Given the description of an element on the screen output the (x, y) to click on. 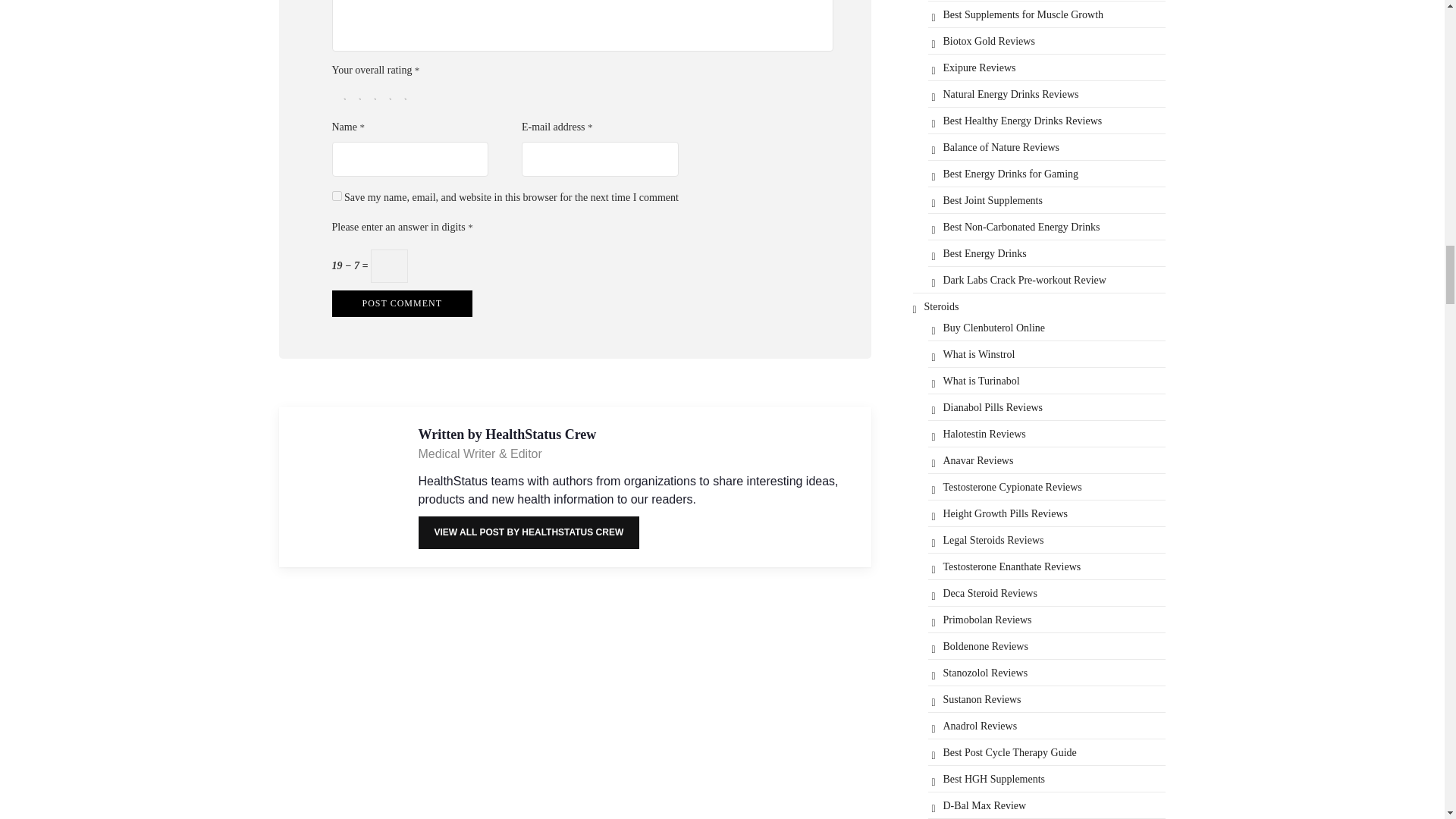
yes (336, 195)
Post Comment (401, 303)
